Given the description of an element on the screen output the (x, y) to click on. 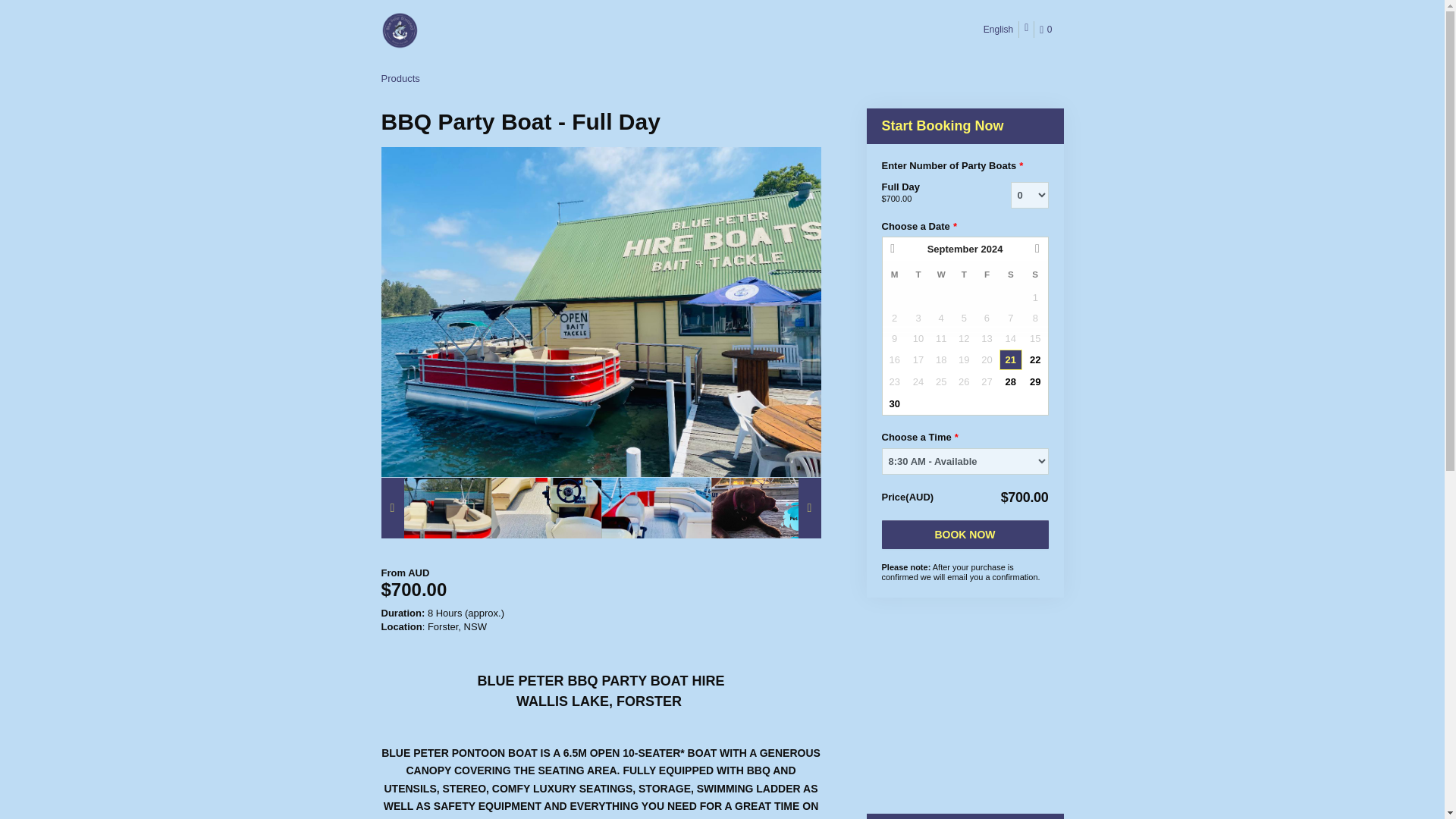
Not available (894, 317)
0 (1047, 30)
Not available (986, 317)
Not available (963, 317)
Products (399, 78)
22 (1034, 359)
29 (1034, 381)
English (998, 29)
Not available (1010, 317)
28 (1010, 381)
